Given the description of an element on the screen output the (x, y) to click on. 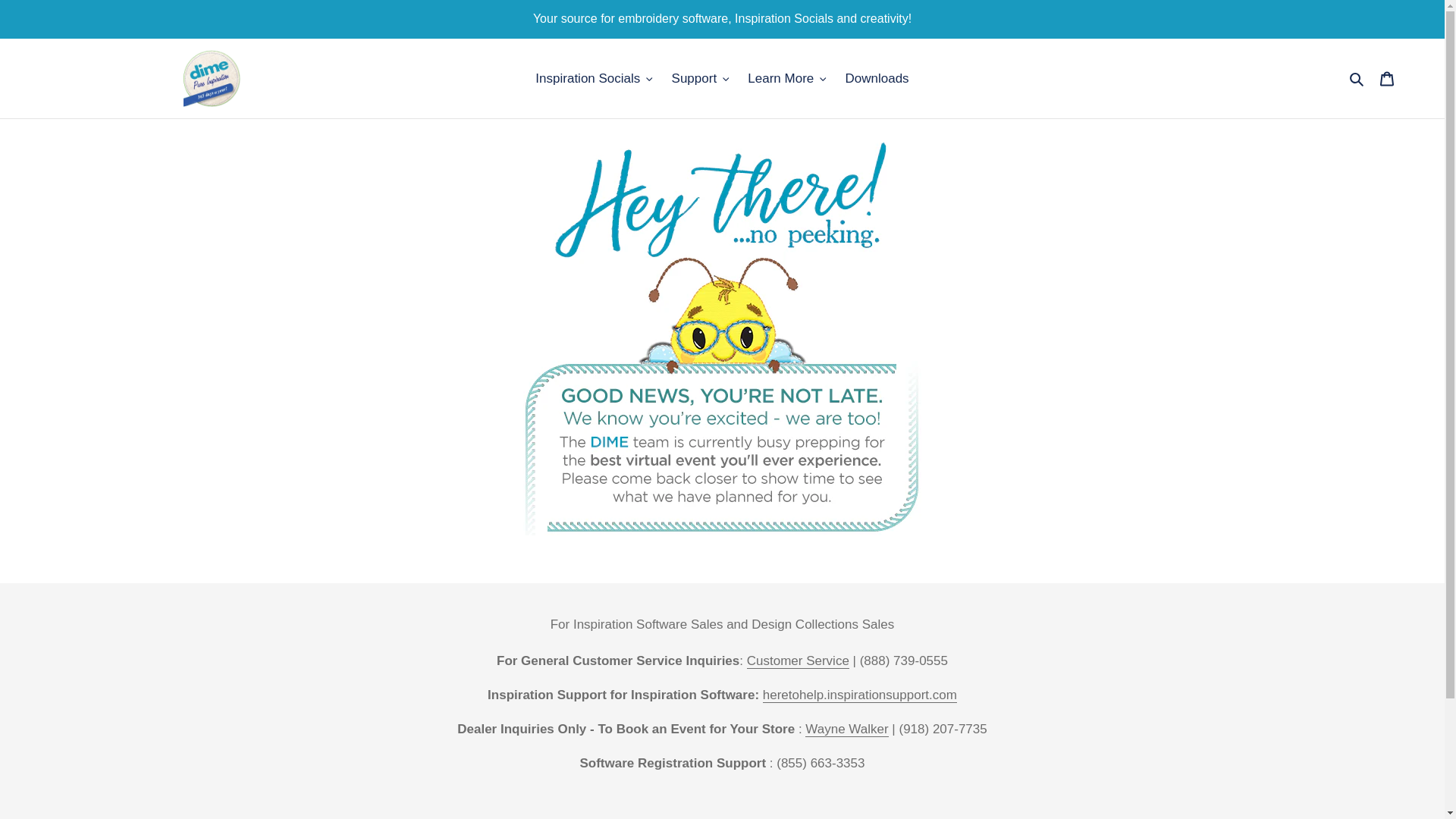
Cart (1387, 78)
Search (1357, 78)
Learn More (785, 78)
Downloads (877, 78)
Support (699, 78)
Inspiration Socials (593, 78)
